Given the description of an element on the screen output the (x, y) to click on. 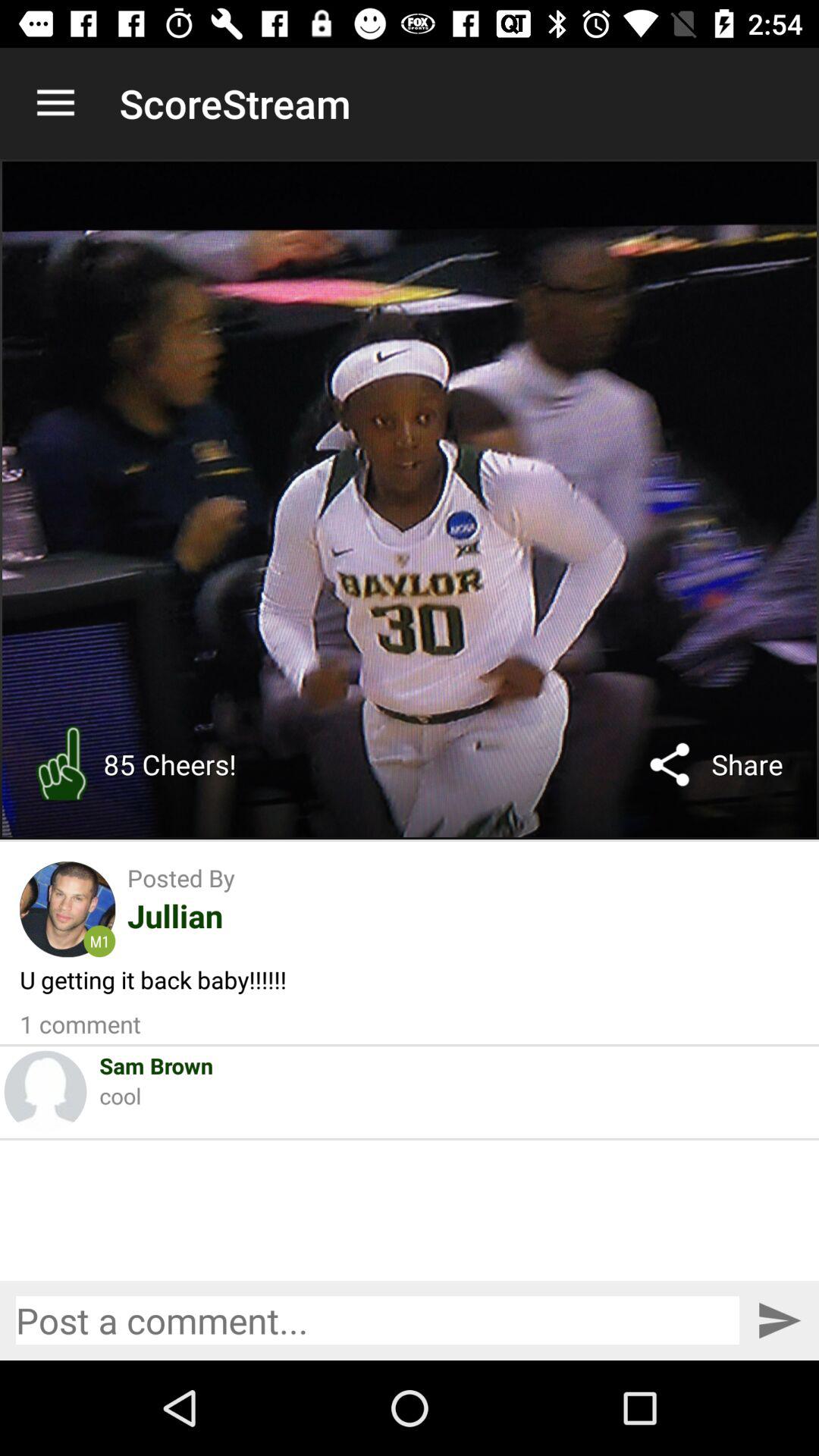
turn off icon to the left of 85 cheers! (61, 764)
